Given the description of an element on the screen output the (x, y) to click on. 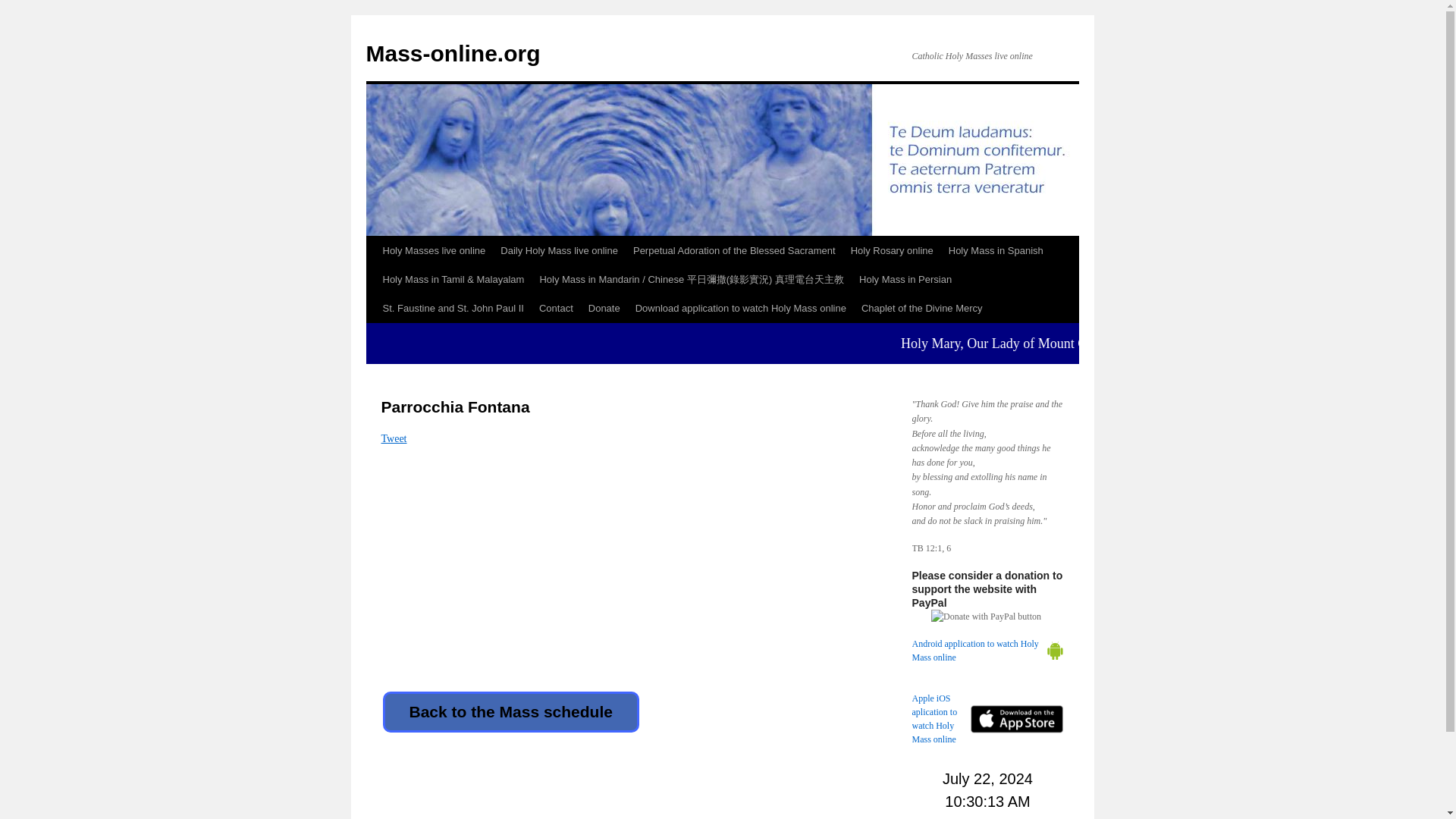
Holy Rosary online (891, 250)
Contact (555, 308)
Holy Mass in Spanish (995, 250)
Mass-online.org (452, 53)
Tweet (393, 438)
PayPal - The safer, easier way to pay online! (986, 616)
Perpetual Adoration of the Blessed Sacrament (734, 250)
Skip to content (372, 278)
Download application to watch Holy Mass online (740, 308)
Skip to content (372, 278)
Android application to watch Holy Mass online (978, 650)
Chaplet of the Divine Mercy (921, 308)
Holy Masses live online (433, 250)
Donate (603, 308)
St. Faustine and St. John Paul II (452, 308)
